Given the description of an element on the screen output the (x, y) to click on. 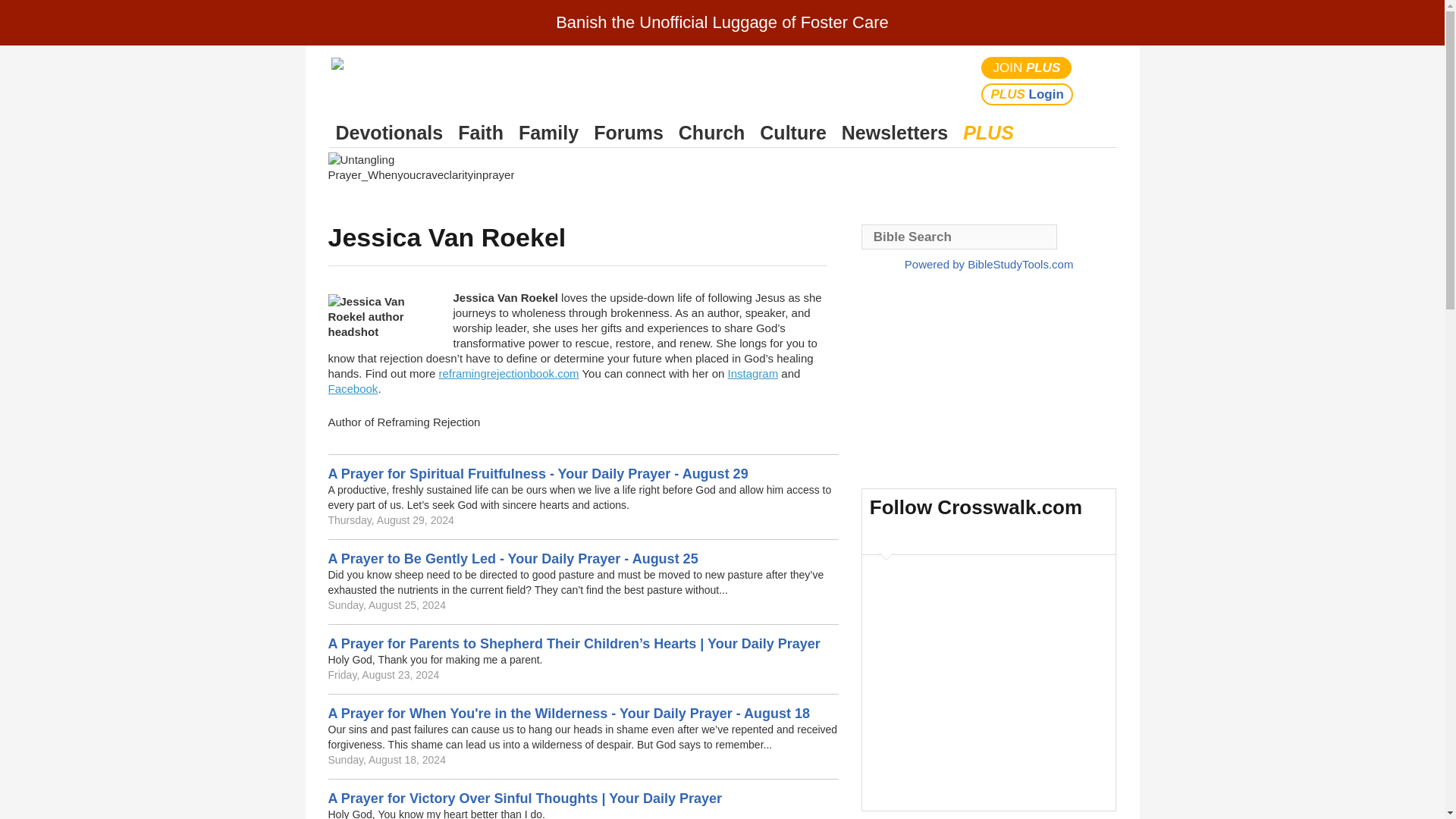
JOIN PLUS (1026, 67)
PLUS Login (1026, 94)
Faith (481, 132)
Join Plus (1026, 67)
Family (548, 132)
Devotionals (389, 132)
Church (711, 132)
Search (1101, 80)
Newsletters (894, 132)
Culture (792, 132)
